Given the description of an element on the screen output the (x, y) to click on. 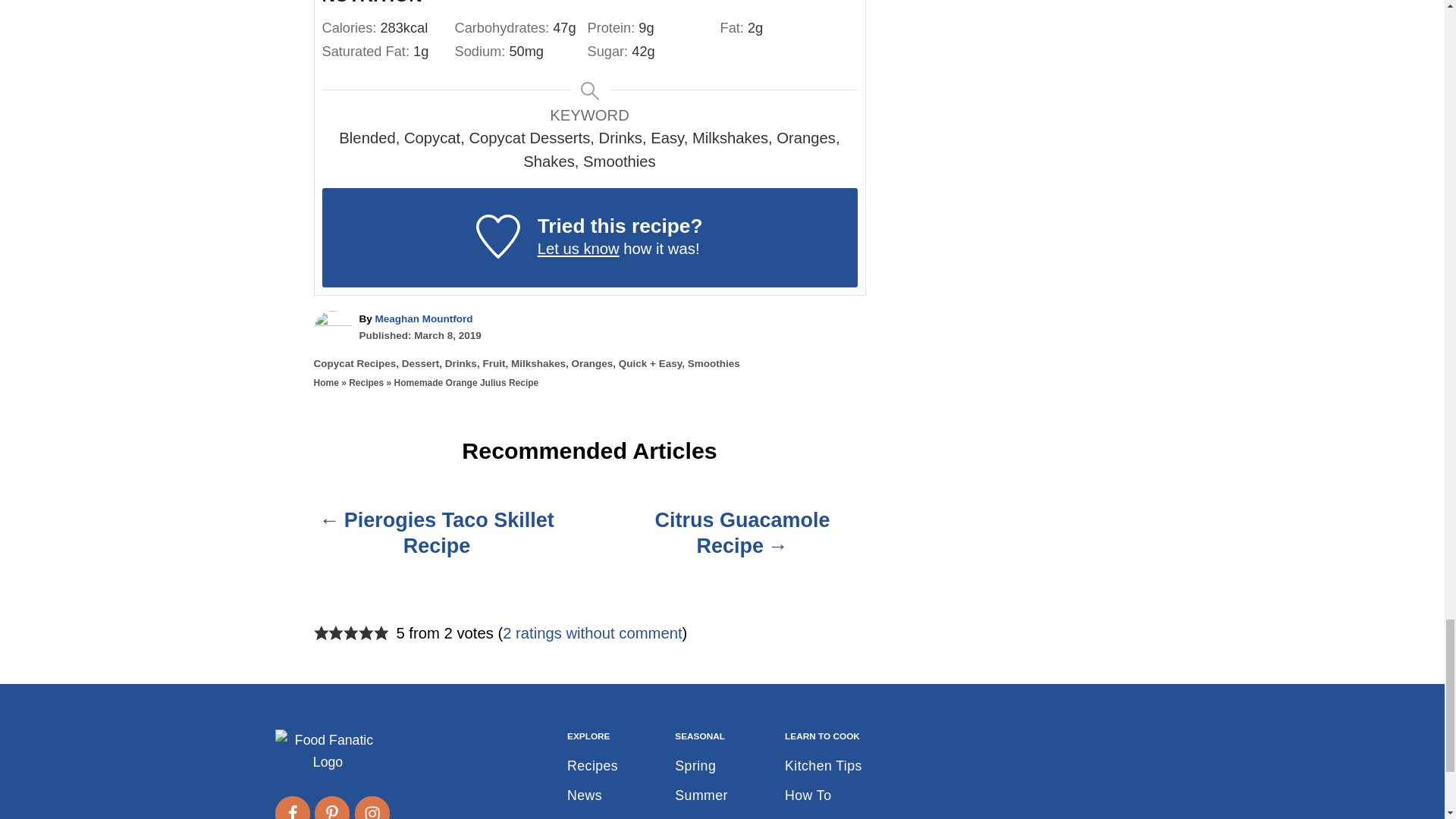
Follow on Pinterest (331, 807)
Follow on Facebook (291, 807)
Follow on Instagram (372, 807)
